Given the description of an element on the screen output the (x, y) to click on. 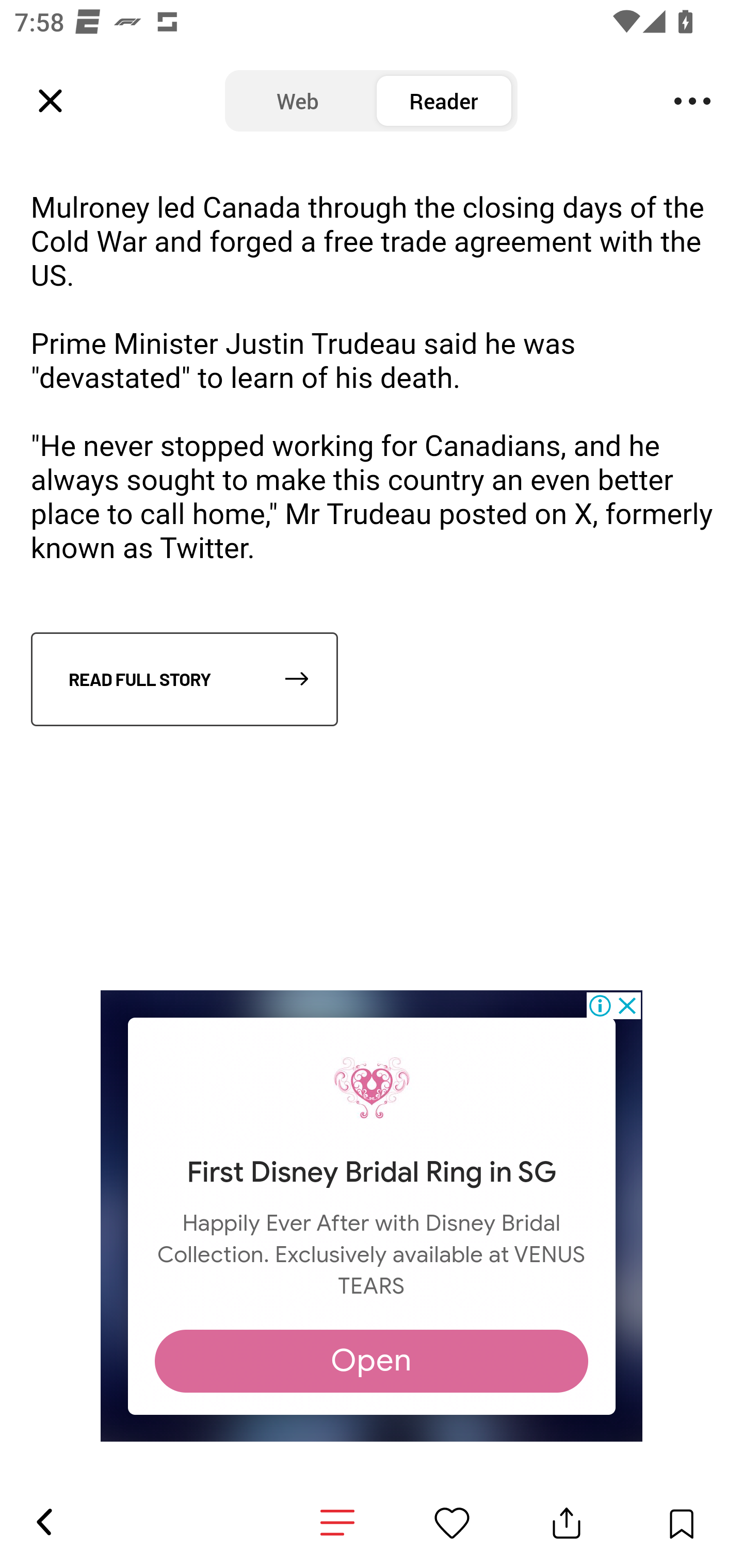
Leading Icon (50, 101)
Web (297, 101)
Menu (692, 101)
READ FULL STORY (183, 679)
beauty-and-beast (371, 1084)
First Disney Bridal Ring in SG (371, 1172)
Open (371, 1360)
Back Button (43, 1523)
News Detail Emotion (451, 1523)
Share Button (566, 1523)
Save Button (680, 1523)
News Detail Emotion (337, 1523)
